Given the description of an element on the screen output the (x, y) to click on. 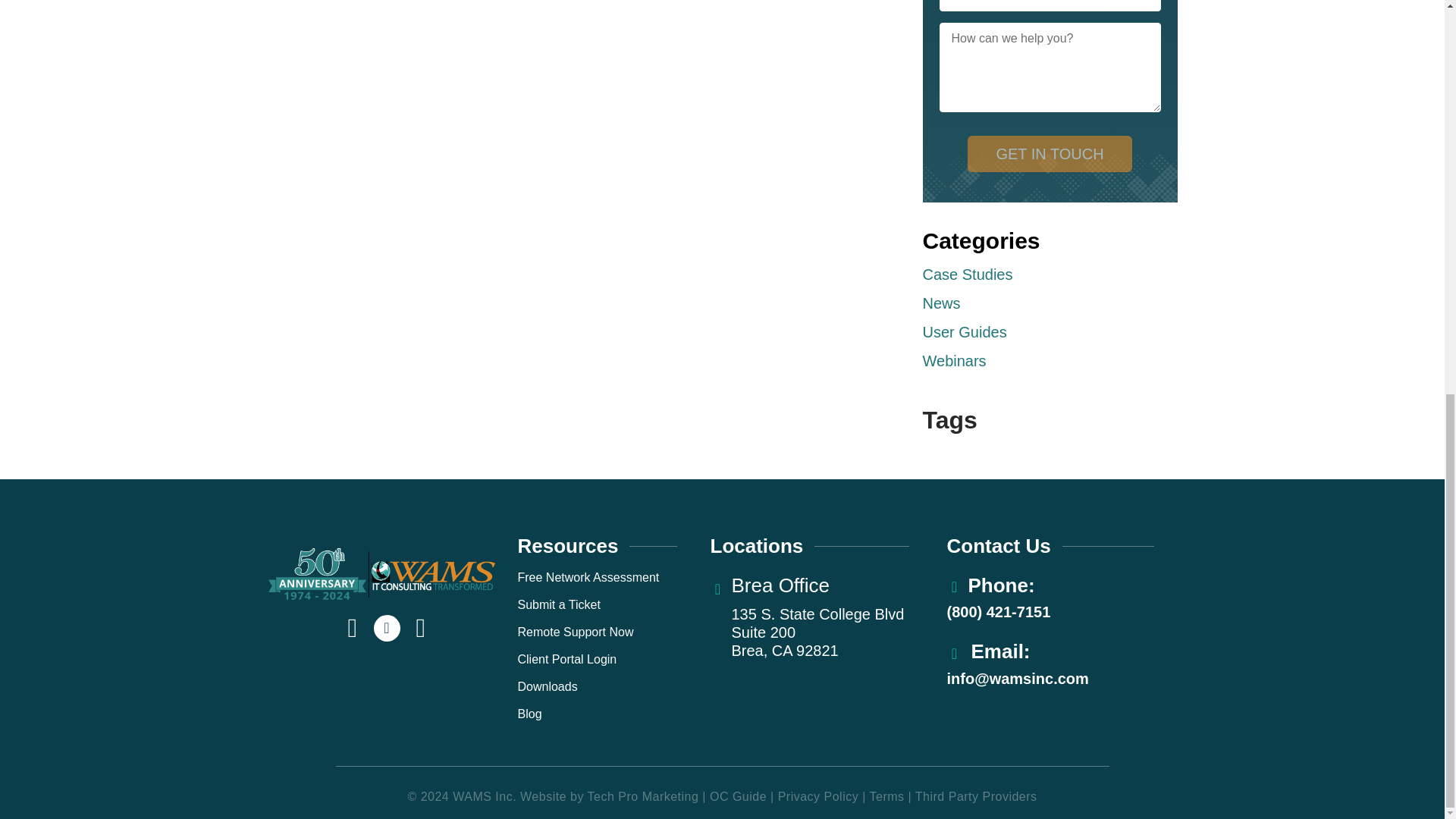
GET IN TOUCH (1049, 153)
logo-lg-white (380, 573)
